Given the description of an element on the screen output the (x, y) to click on. 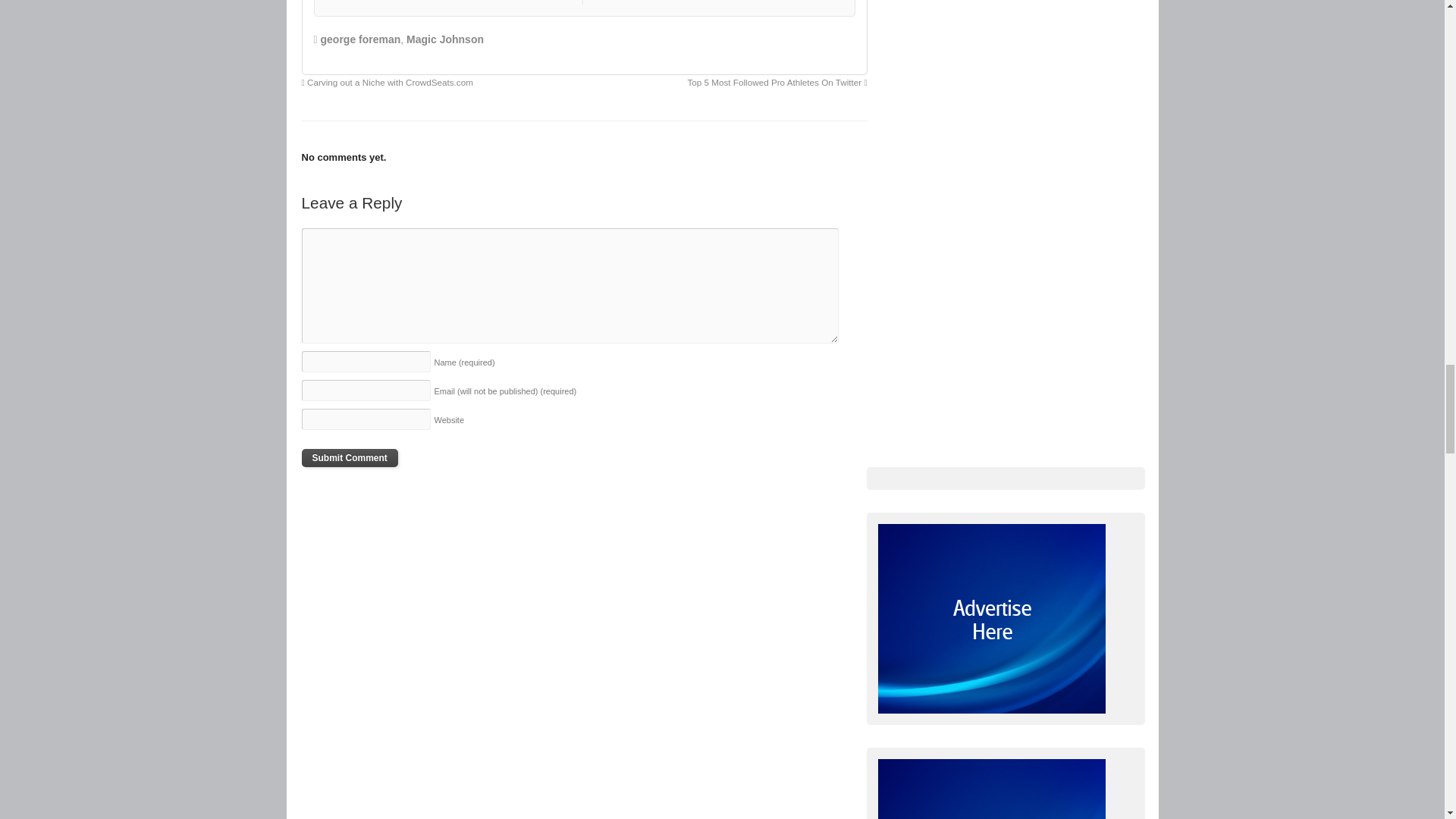
Submit Comment (349, 457)
